Given the description of an element on the screen output the (x, y) to click on. 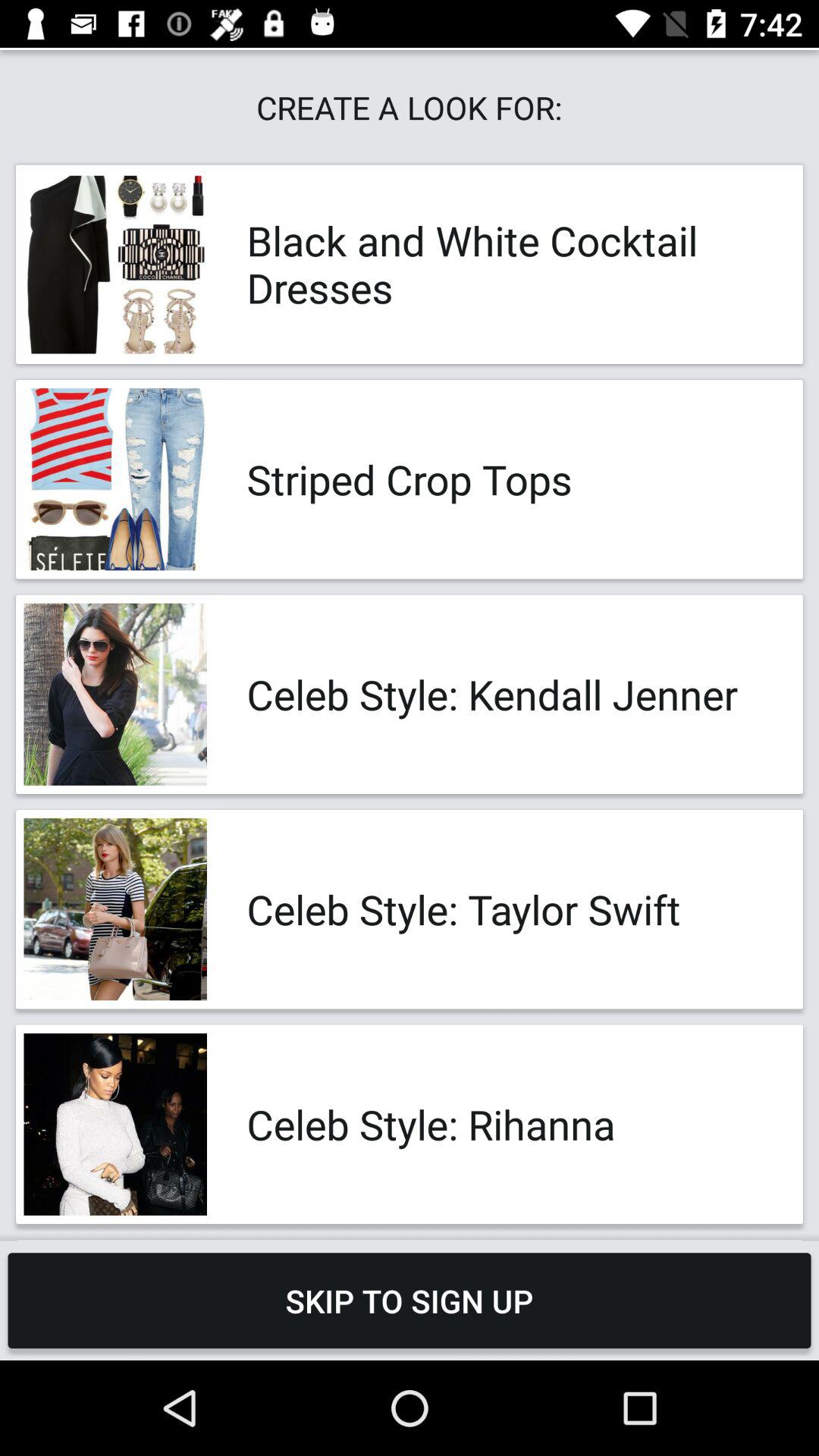
launch the black and white icon (508, 264)
